Given the description of an element on the screen output the (x, y) to click on. 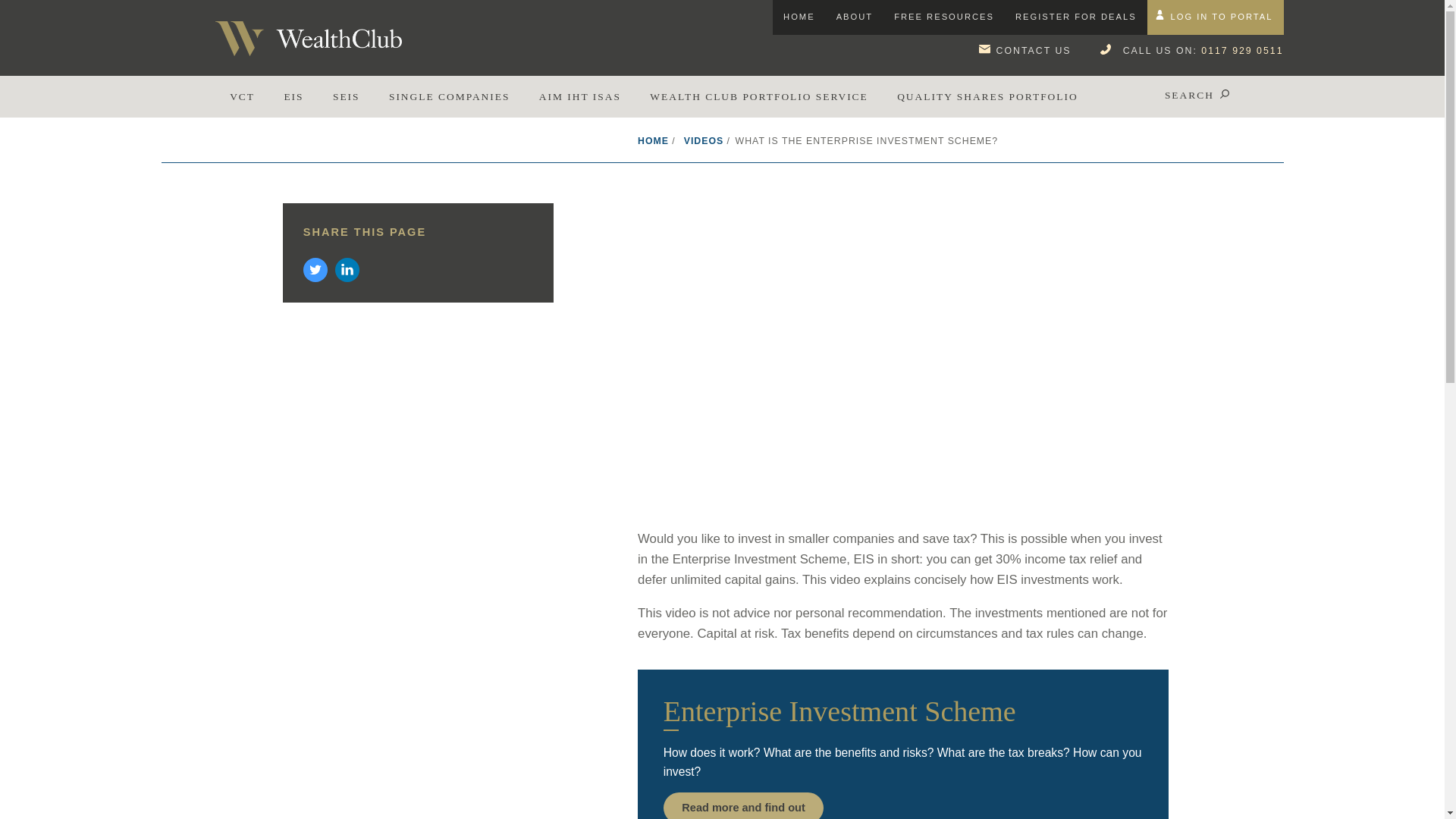
CONTACT US (1033, 50)
Read more and find out (743, 805)
HOME (799, 17)
0117 929 0511 (1241, 50)
FREE RESOURCES (943, 17)
LOG IN TO PORTAL (1221, 17)
VCT (242, 96)
ABOUT (854, 17)
REGISTER FOR DEALS (1075, 17)
EIS (293, 96)
